Given the description of an element on the screen output the (x, y) to click on. 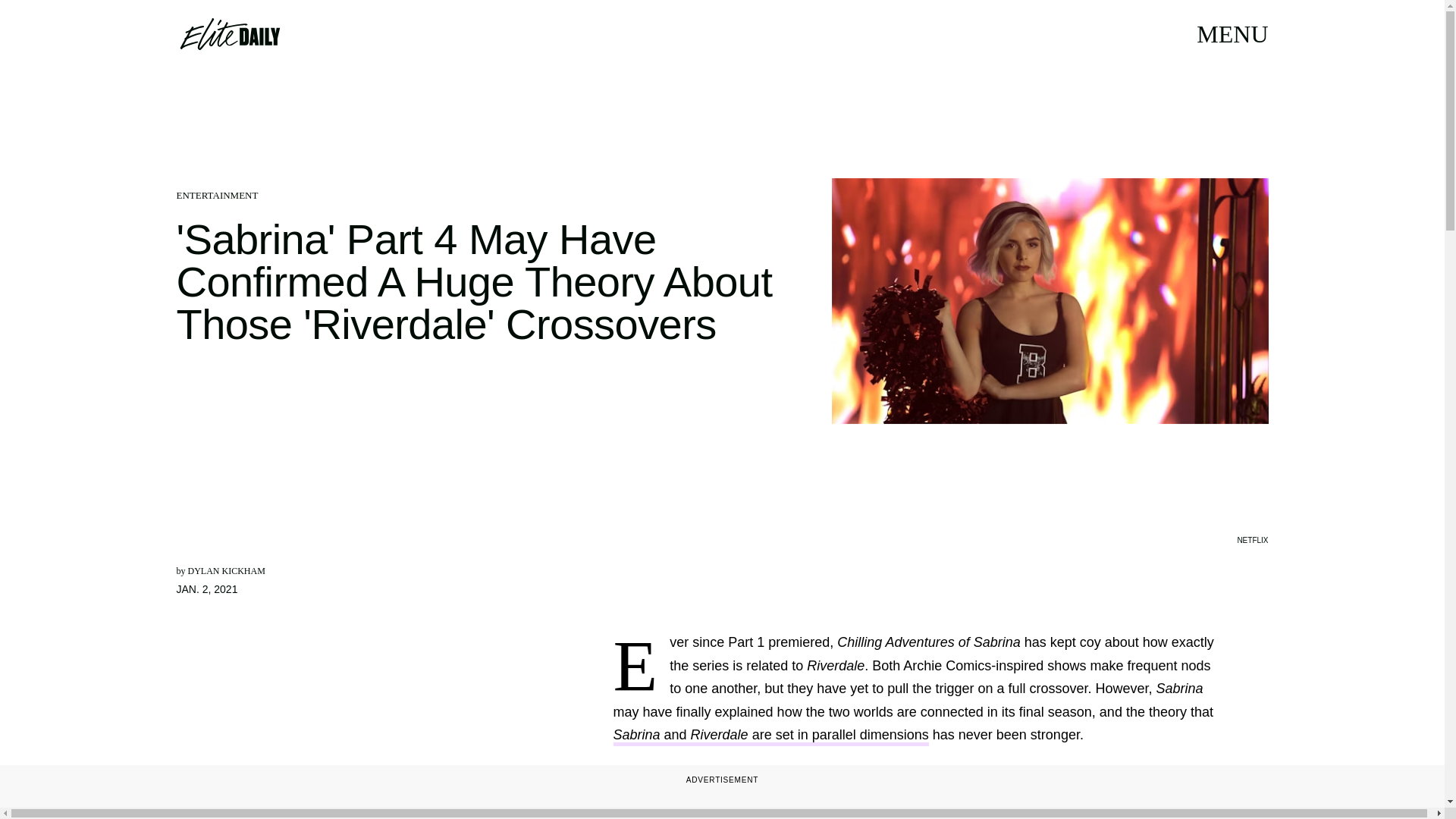
DYLAN KICKHAM (225, 570)
Elite Daily (229, 33)
Sabrina and Riverdale are set in parallel dimensions (770, 736)
